Given the description of an element on the screen output the (x, y) to click on. 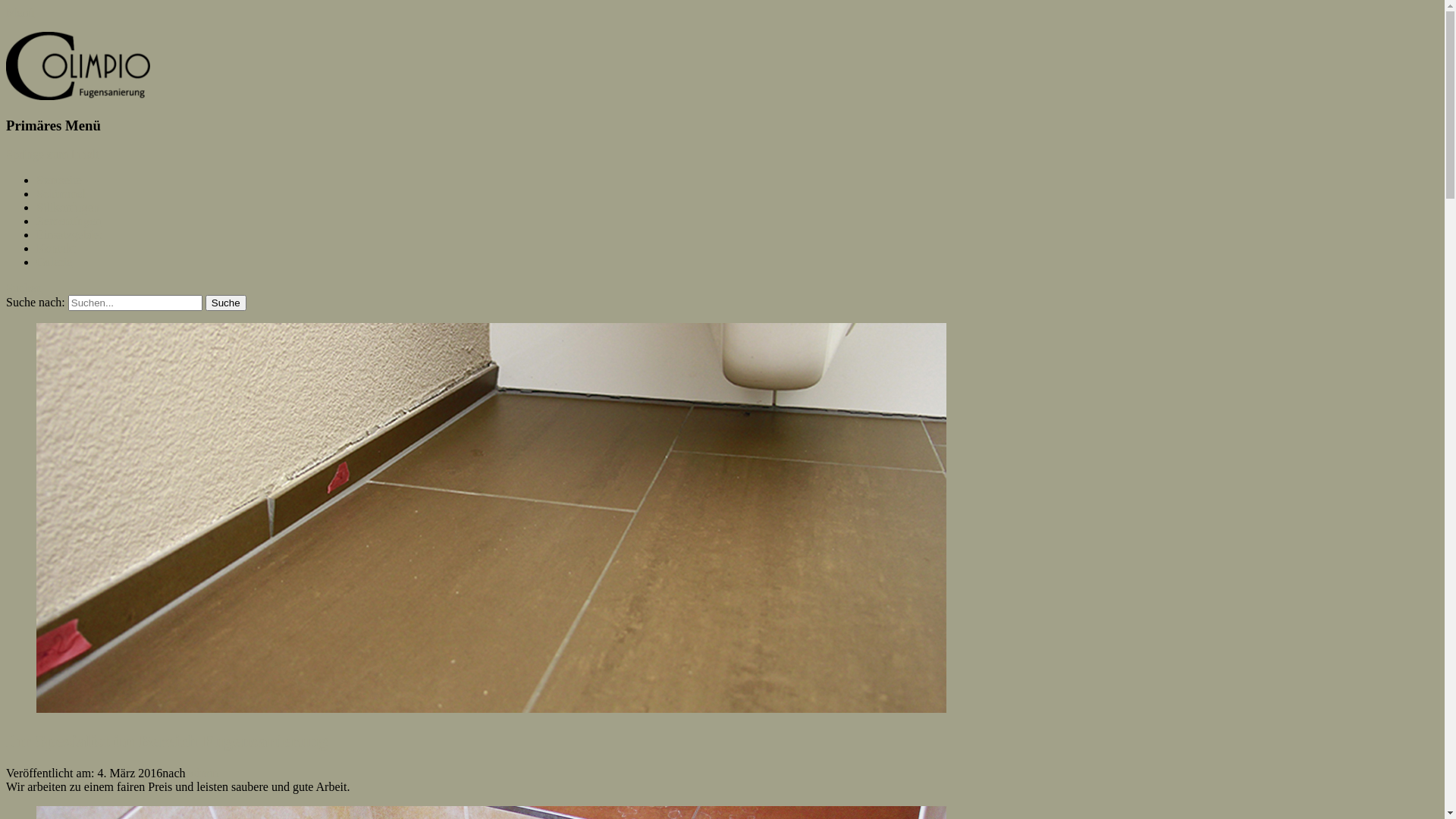
Suche Element type: text (225, 302)
admin Element type: text (203, 772)
Zementfugen Element type: text (68, 220)
Silikonfugen Element type: text (67, 206)
Schimmel Element type: text (60, 193)
Kontakt Element type: text (55, 247)
Permalink auf:Ihr Spezialist im Bereich Fugensanierung Element type: hover (491, 708)
C Olimpio Element type: text (31, 38)
Suche nach: Element type: hover (135, 302)
Permalink auf:Ihr Spezialist im Bereich Fugensanierung Element type: hover (491, 517)
Ihr Spezialist im Bereich Fugensanierung Element type: text (166, 740)
Galerie Element type: text (54, 261)
Springe zum Inhalt Element type: text (52, 153)
Suchen Element type: text (23, 287)
Einsatzgebiet Element type: text (68, 234)
Startseite Element type: text (58, 179)
